Given the description of an element on the screen output the (x, y) to click on. 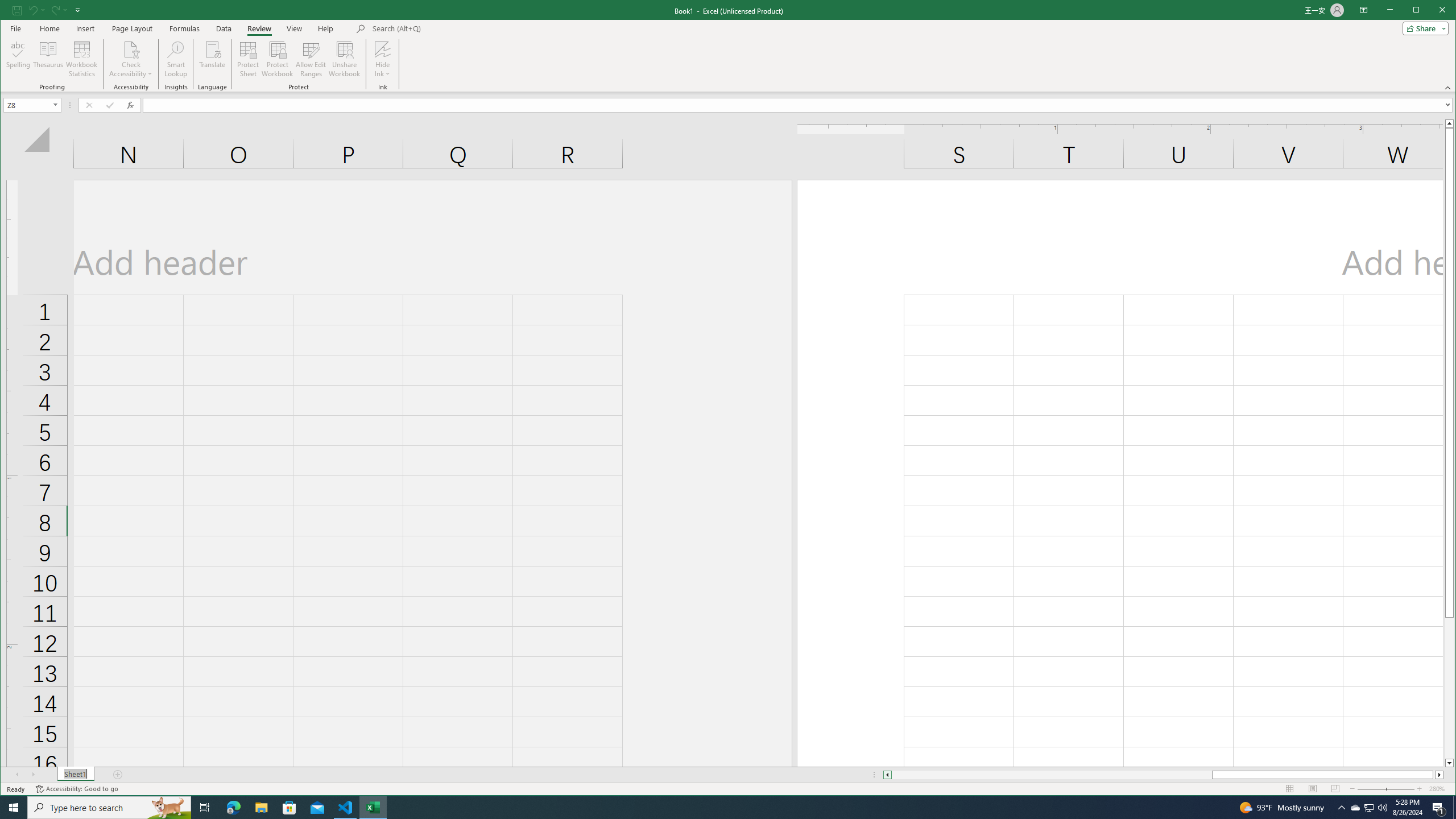
Protect Sheet... (247, 59)
Action Center, 1 new notification (1439, 807)
Allow Edit Ranges (310, 59)
Type here to search (108, 807)
